Given the description of an element on the screen output the (x, y) to click on. 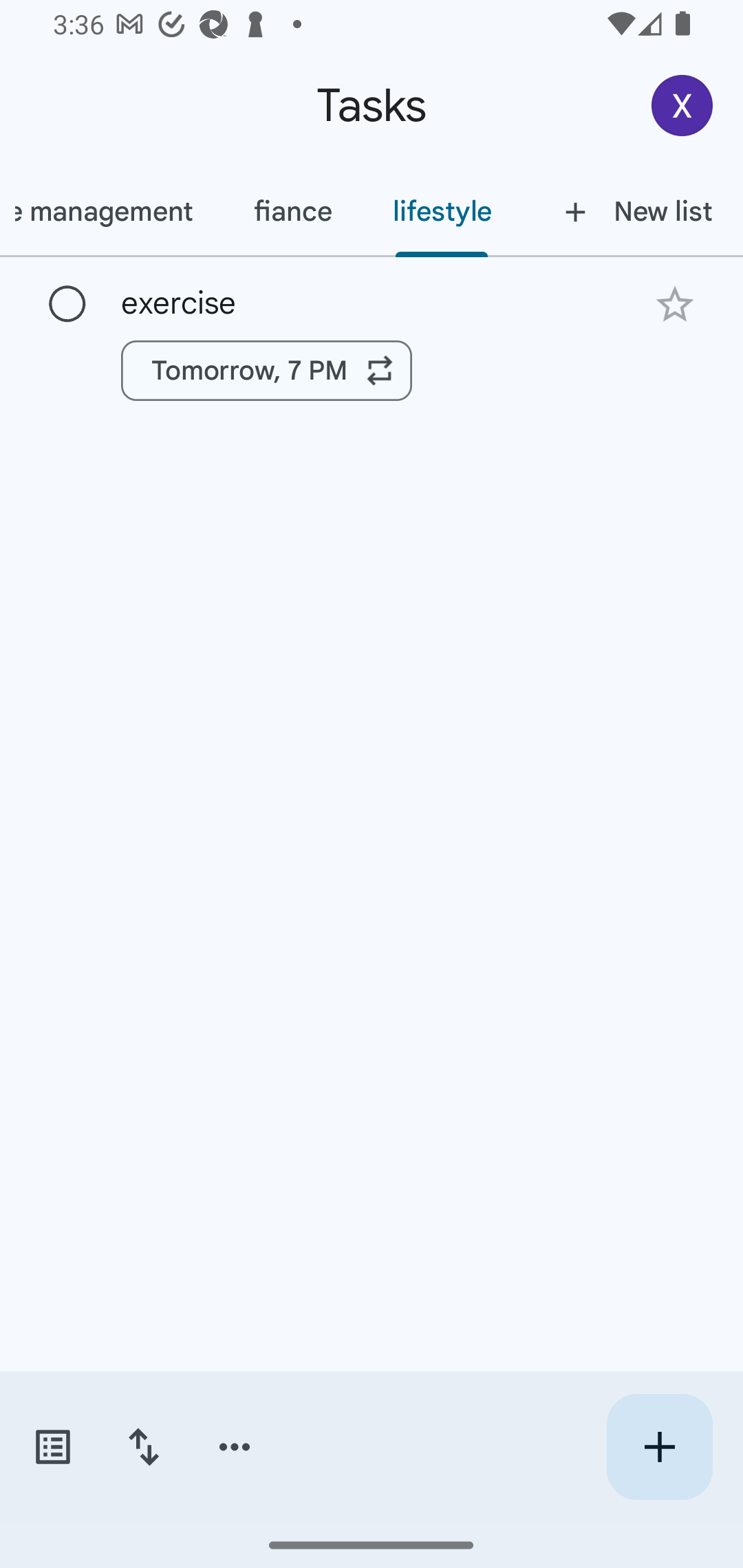
home management (111, 211)
fiance (291, 211)
New list (632, 211)
Add star (674, 303)
Mark as complete (67, 304)
Tomorrow, 7 PM (266, 369)
Switch task lists (52, 1447)
Create new task (659, 1446)
Change sort order (143, 1446)
More options (234, 1446)
